Given the description of an element on the screen output the (x, y) to click on. 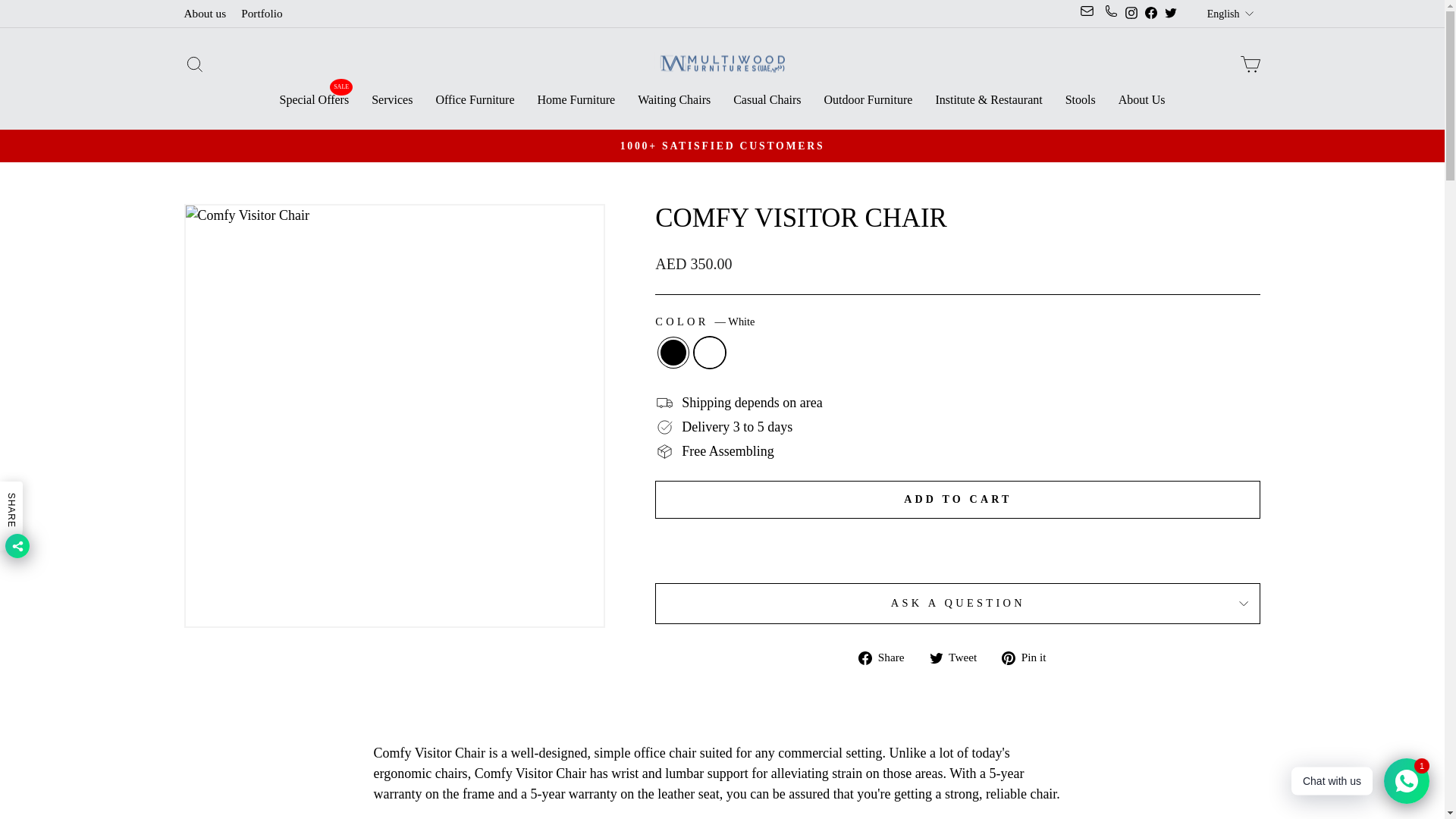
Pin on Pinterest (1029, 657)
Tweet on Twitter (959, 657)
Share on Facebook (887, 657)
